Given the description of an element on the screen output the (x, y) to click on. 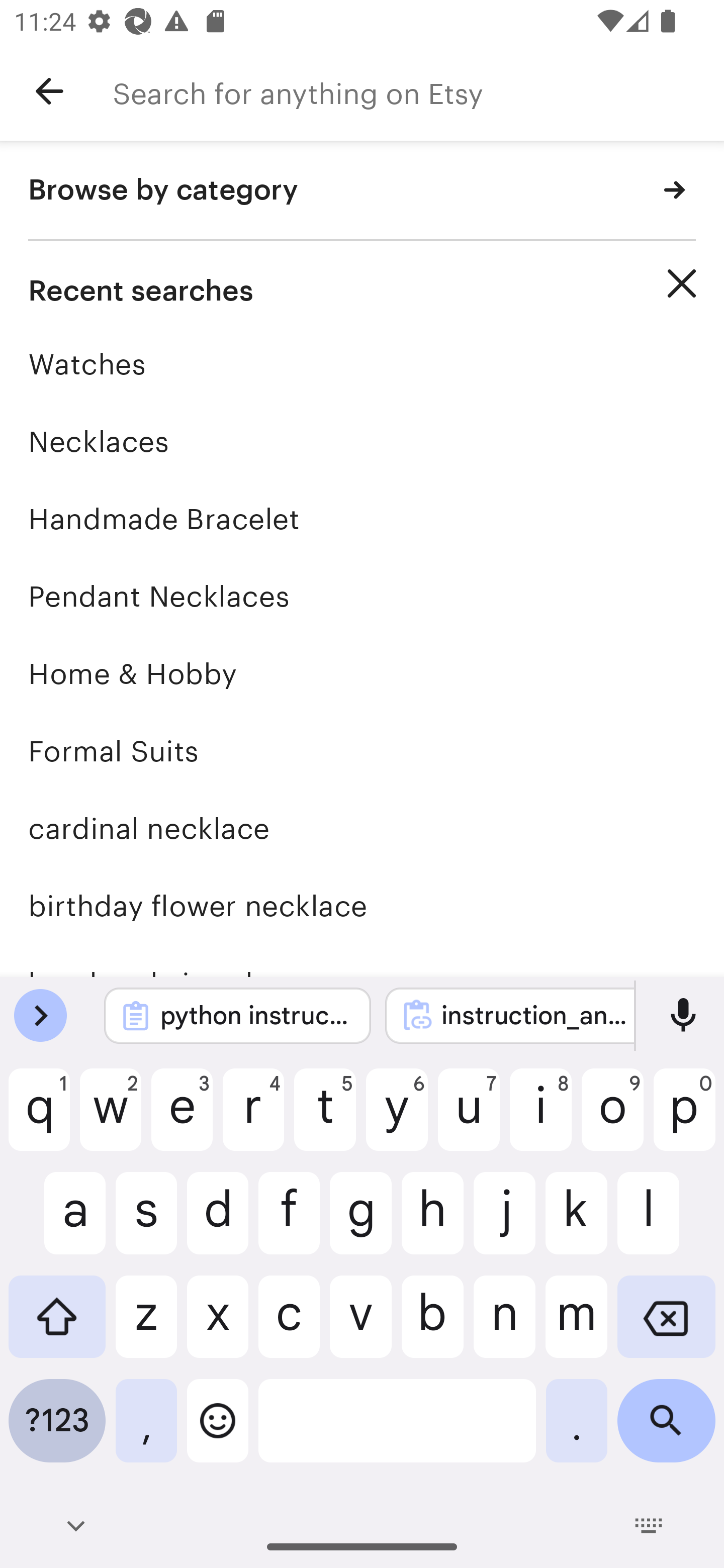
Navigate up (49, 91)
Search for anything on Etsy (418, 91)
Browse by category (362, 191)
Clear (681, 283)
Watches (362, 364)
Necklaces (362, 440)
Handmade Bracelet (362, 518)
Pendant Necklaces (362, 596)
Home & Hobby (362, 673)
Formal Suits (362, 750)
cardinal necklace (362, 828)
birthday flower necklace (362, 906)
